Given the description of an element on the screen output the (x, y) to click on. 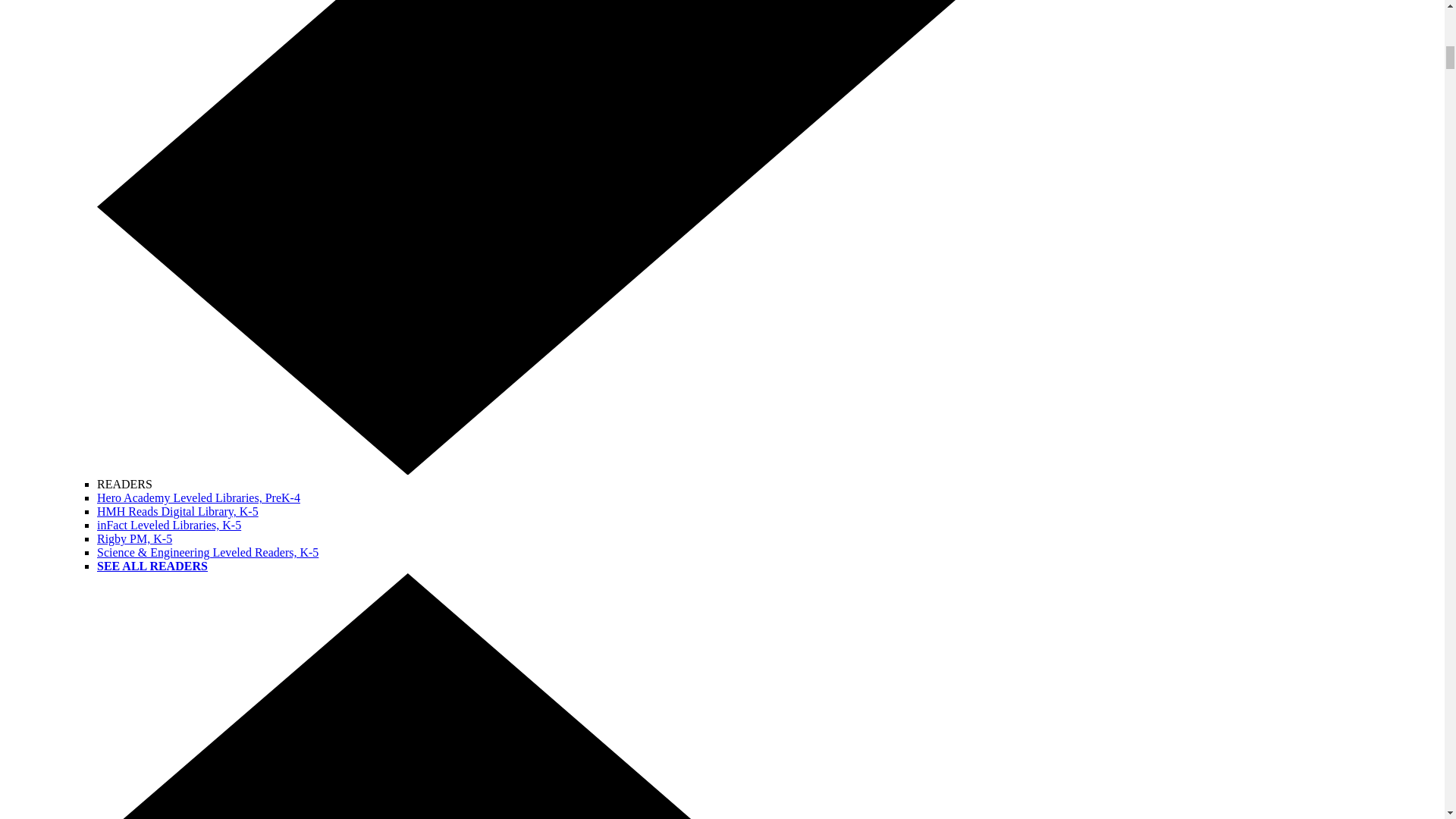
HMH Reads Digital Library, K-5 (178, 511)
inFact Leveled Libraries, K-5 (169, 524)
Hero Academy Leveled Libraries, PreK-4 (198, 497)
inFact Leveled Libraries, K-5 (169, 524)
Rigby PM, K-5 (134, 538)
Hero Academy Leveled Libraries, PreK-4 (198, 497)
Rigby PM, K-5 (134, 538)
HMH Reads Digital Library, K-5 (178, 511)
